Given the description of an element on the screen output the (x, y) to click on. 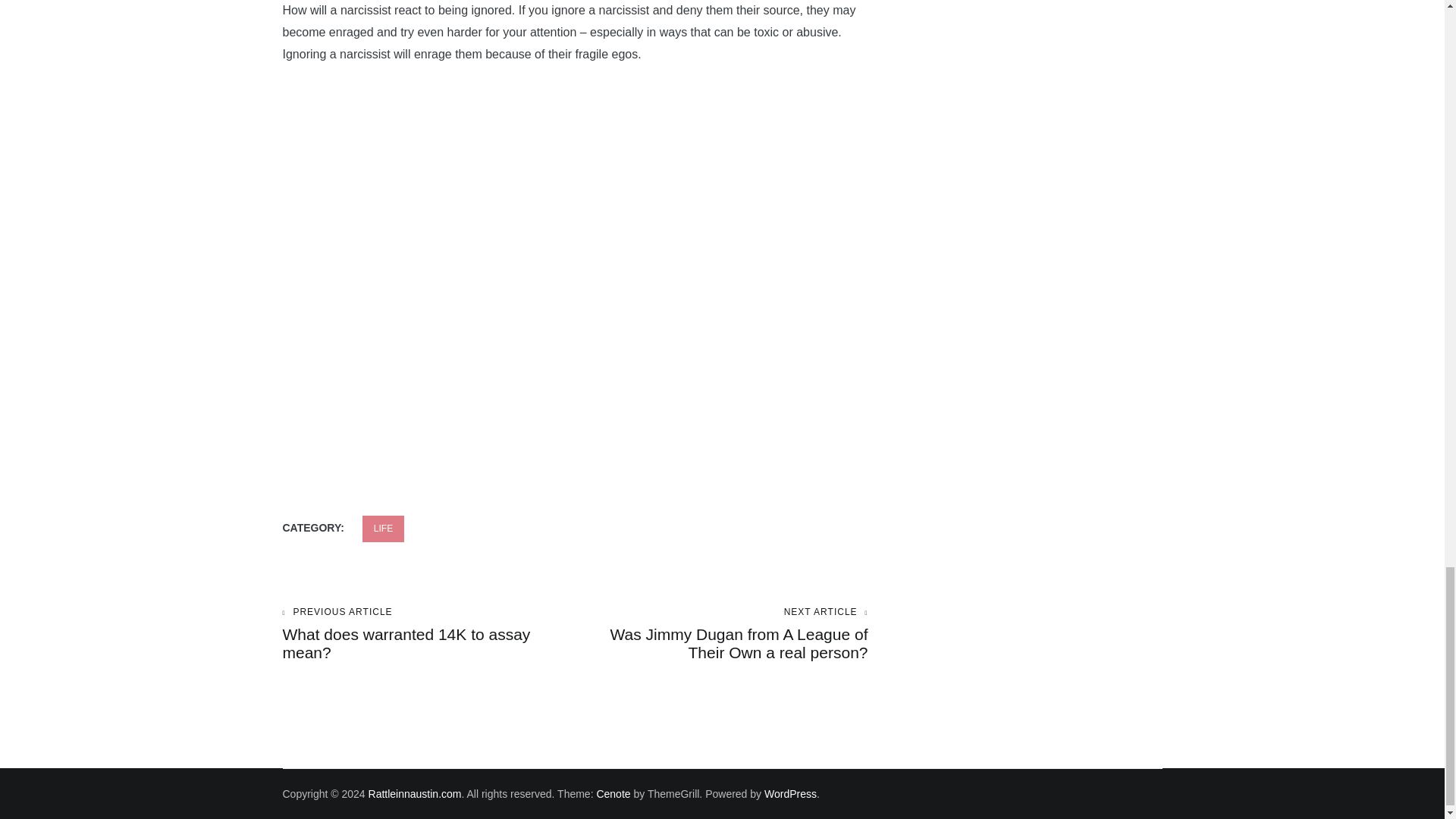
Rattleinnaustin.com (414, 793)
How To Spot Narcissists On Facebook (428, 633)
